Given the description of an element on the screen output the (x, y) to click on. 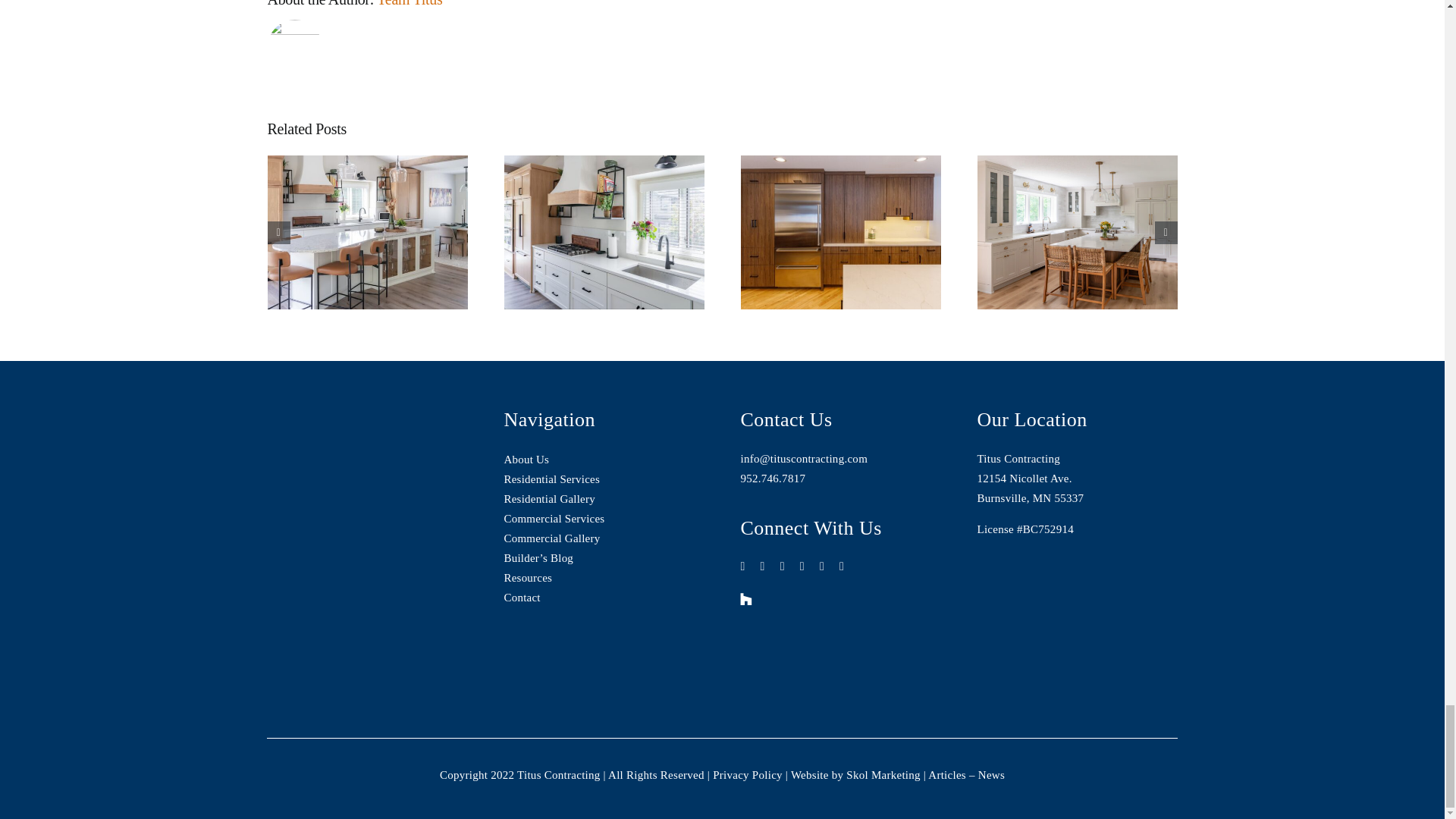
original-logo-footer-t (341, 439)
Posts by Team Titus (409, 3)
